Given the description of an element on the screen output the (x, y) to click on. 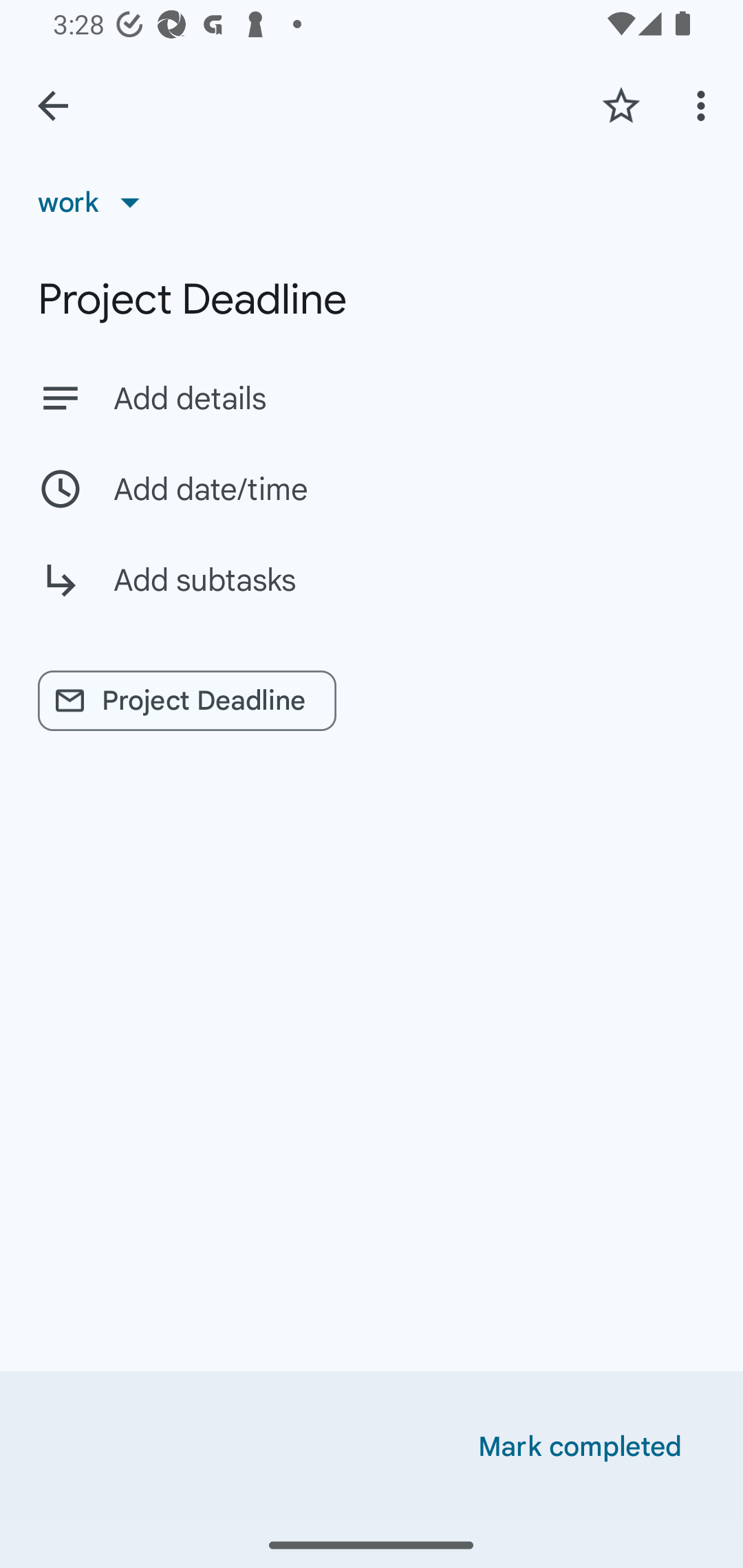
Back (53, 105)
Add star (620, 105)
More options (704, 105)
work List, work selected, 1 of 4 (95, 202)
Project Deadline (371, 299)
Add details (371, 397)
Add details (409, 397)
Add date/time (371, 488)
Add subtasks (371, 594)
Project Deadline Related link (186, 700)
Mark completed (580, 1446)
